Given the description of an element on the screen output the (x, y) to click on. 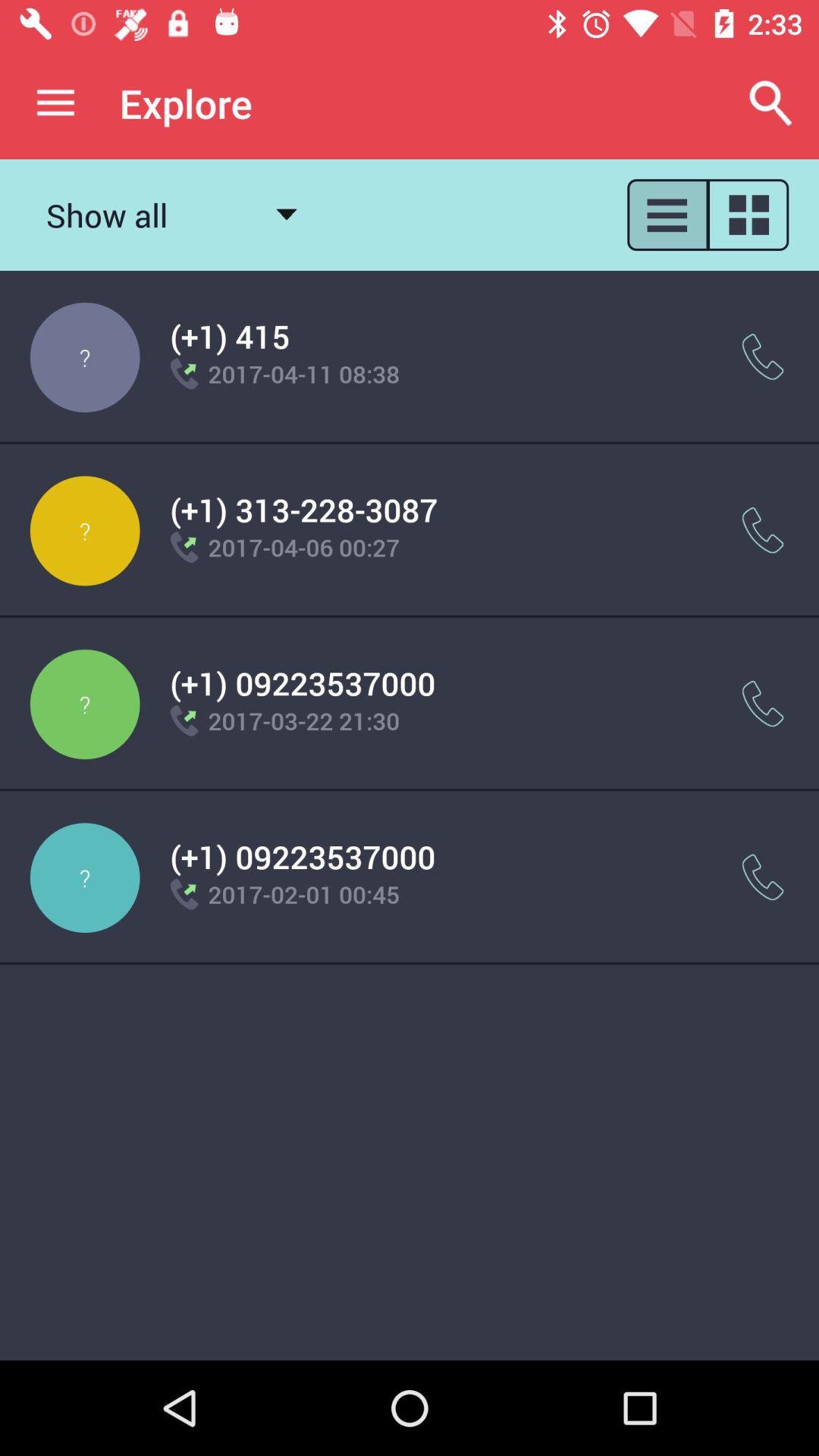
tap icon next to explore app (771, 103)
